Given the description of an element on the screen output the (x, y) to click on. 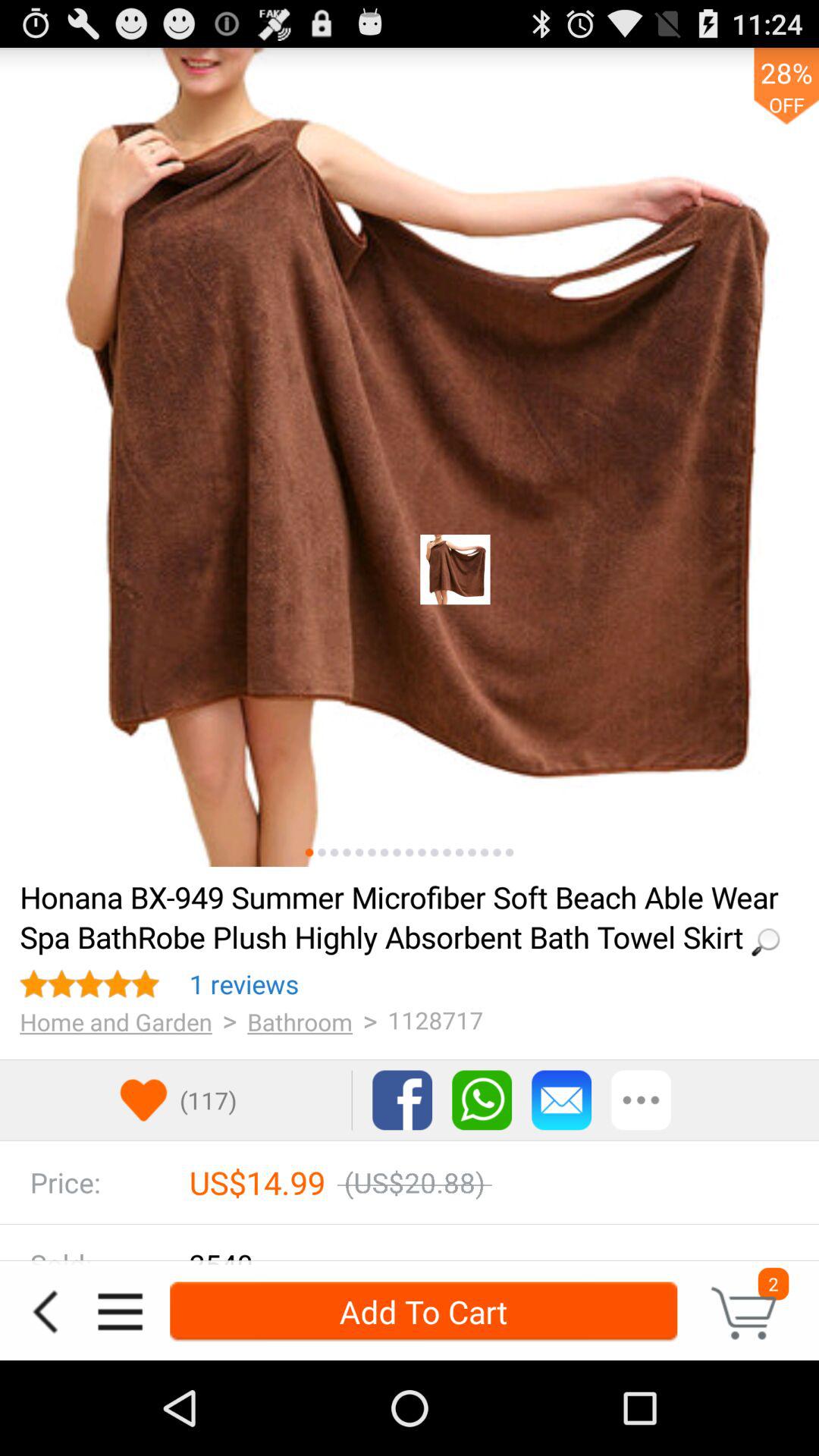
choose photo (396, 852)
